Given the description of an element on the screen output the (x, y) to click on. 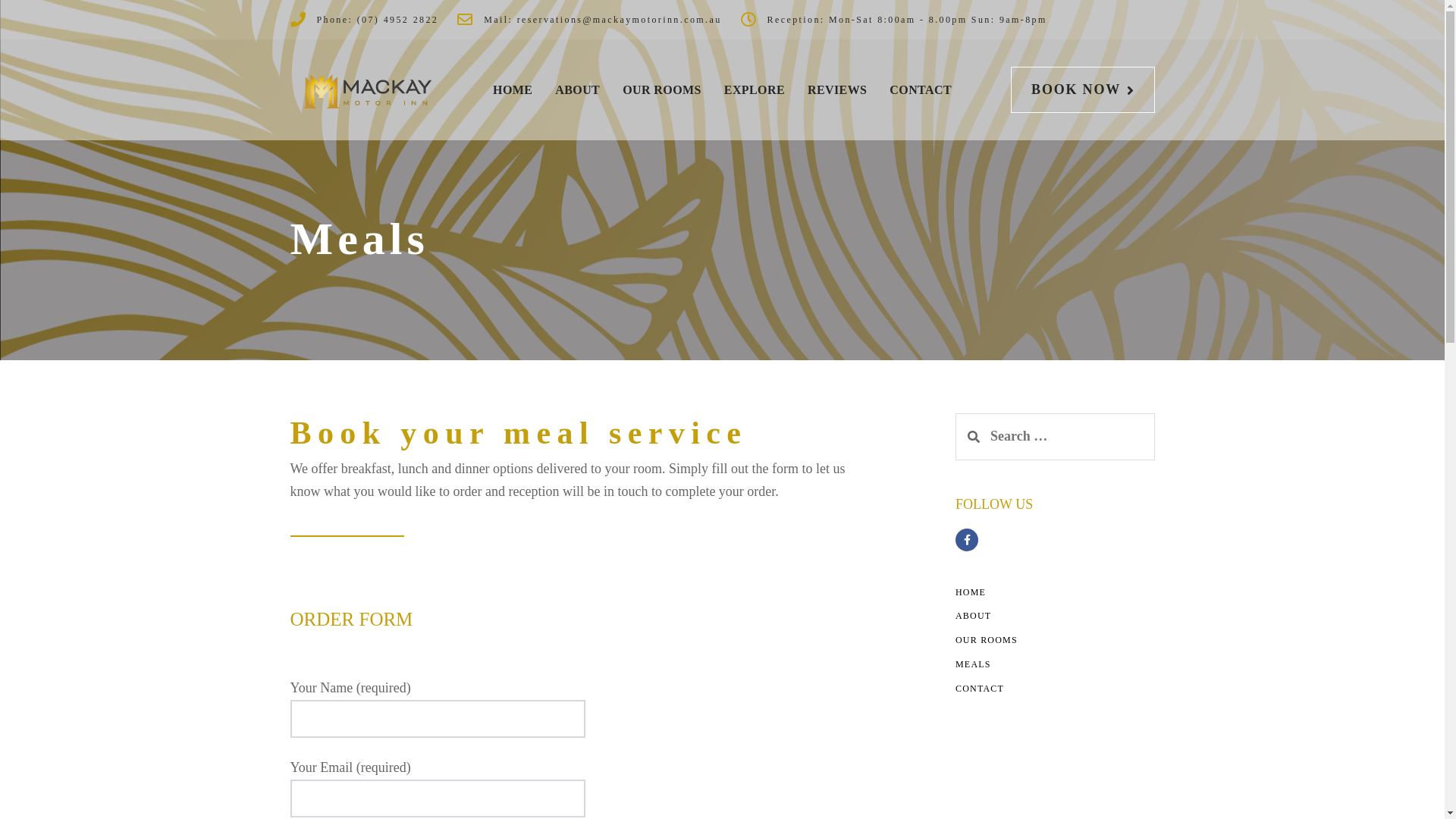
Search Element type: text (973, 436)
HOME Element type: text (970, 591)
CONTACT Element type: text (979, 688)
CONTACT Element type: text (920, 89)
ABOUT Element type: text (973, 615)
BOOK NOW Element type: text (1082, 89)
HOME Element type: text (512, 89)
OUR ROOMS Element type: text (661, 89)
ABOUT Element type: text (577, 89)
OUR ROOMS Element type: text (986, 639)
REVIEWS Element type: text (837, 89)
EXPLORE Element type: text (754, 89)
MEALS Element type: text (973, 663)
